Given the description of an element on the screen output the (x, y) to click on. 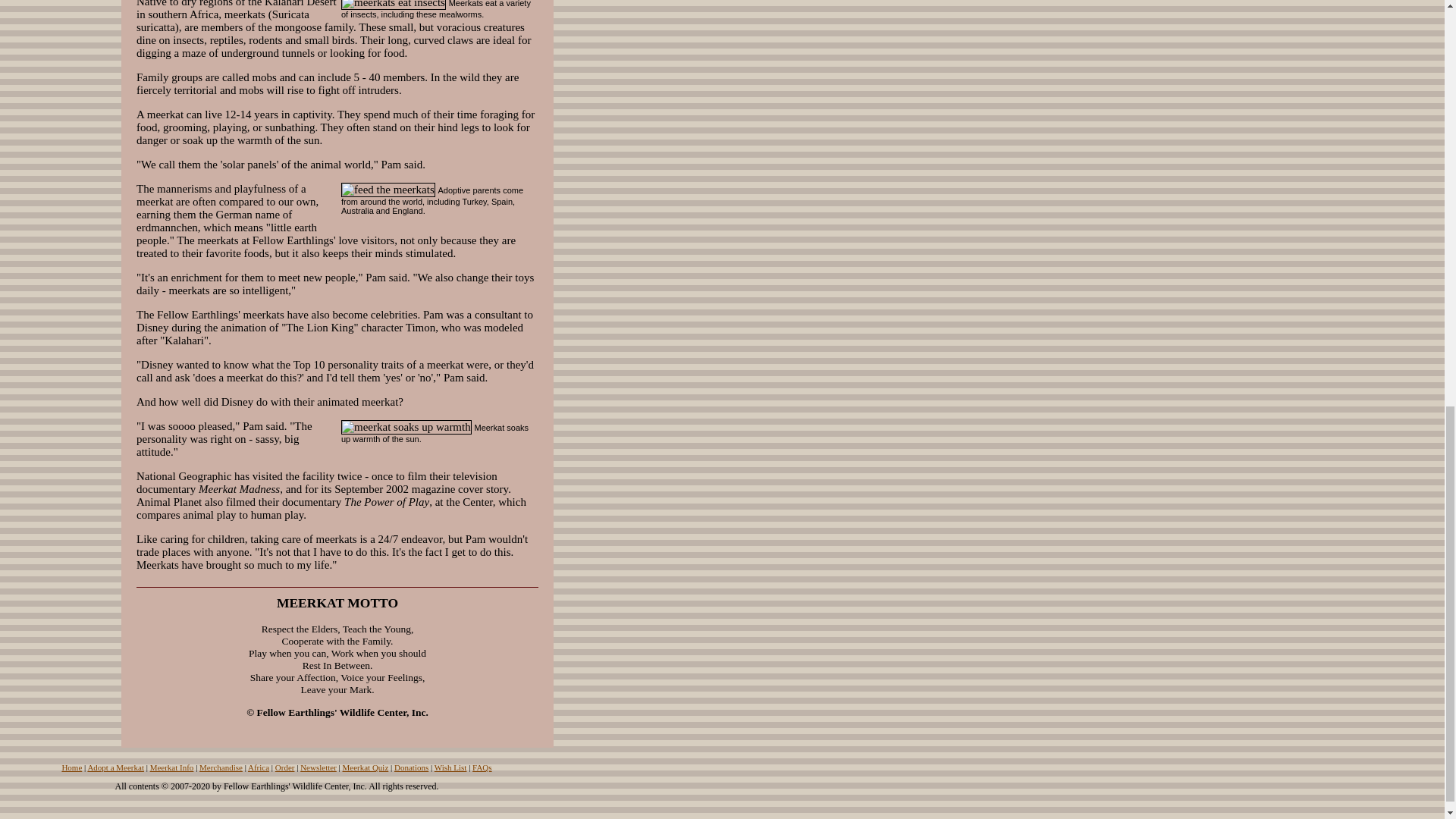
Meerkat Quiz (365, 767)
Meerkat Info (171, 767)
Adopt a Meerkat (115, 767)
FAQs (481, 767)
Merchandise (221, 767)
Newsletter (317, 767)
Order (285, 767)
Home (71, 767)
Wish List (450, 767)
Donations (411, 767)
Africa (258, 767)
